Given the description of an element on the screen output the (x, y) to click on. 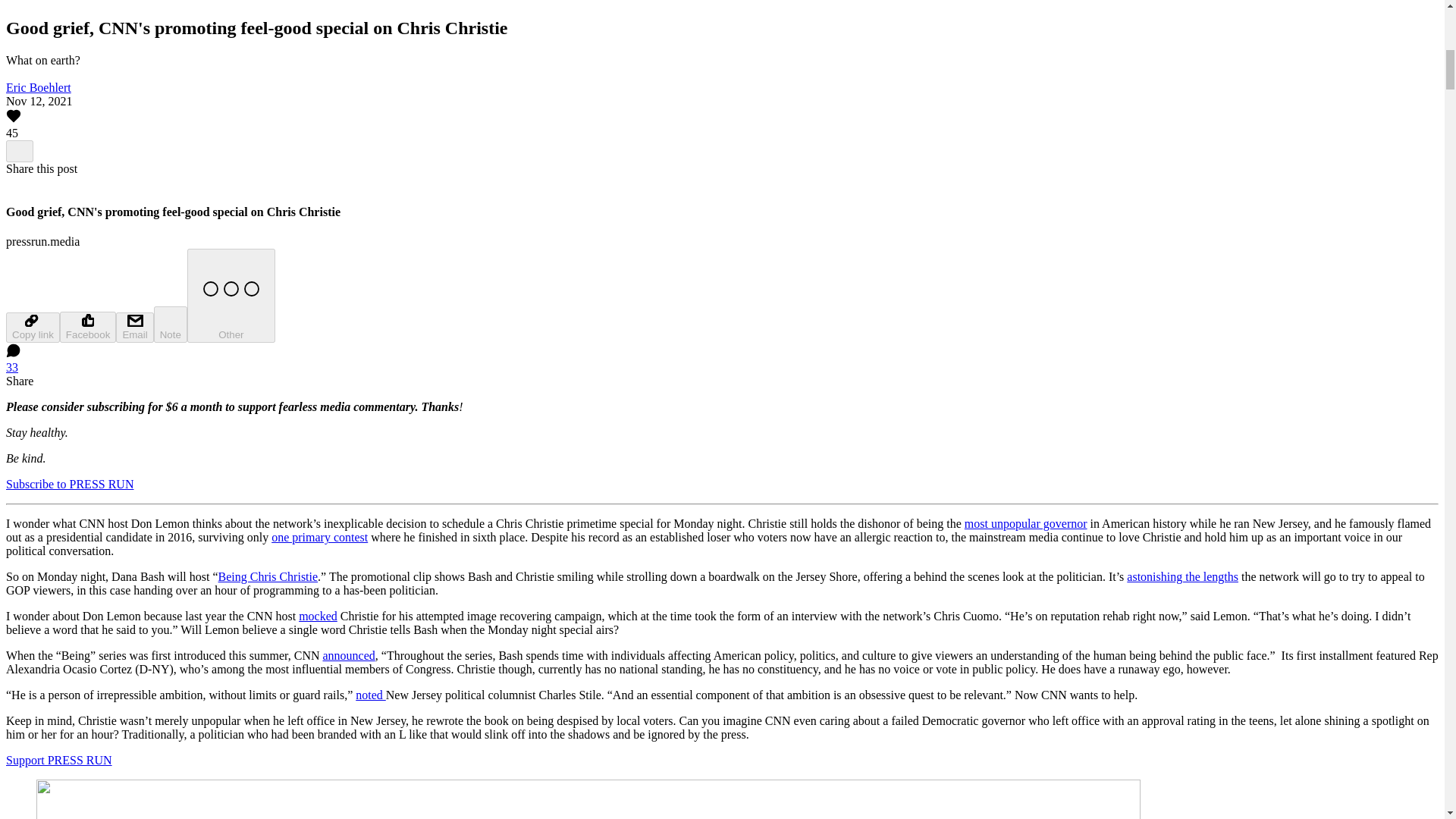
Other (231, 295)
Eric Boehlert (38, 87)
announced (347, 655)
most unpopular governor (1025, 522)
Subscribe to PRESS RUN (69, 483)
Facebook (87, 327)
Copy link (32, 327)
noted (370, 694)
astonishing the lengths (1182, 576)
Email (134, 327)
Being Chris Christie (268, 576)
Note (170, 324)
mocked (317, 615)
one primary contest (319, 536)
